Given the description of an element on the screen output the (x, y) to click on. 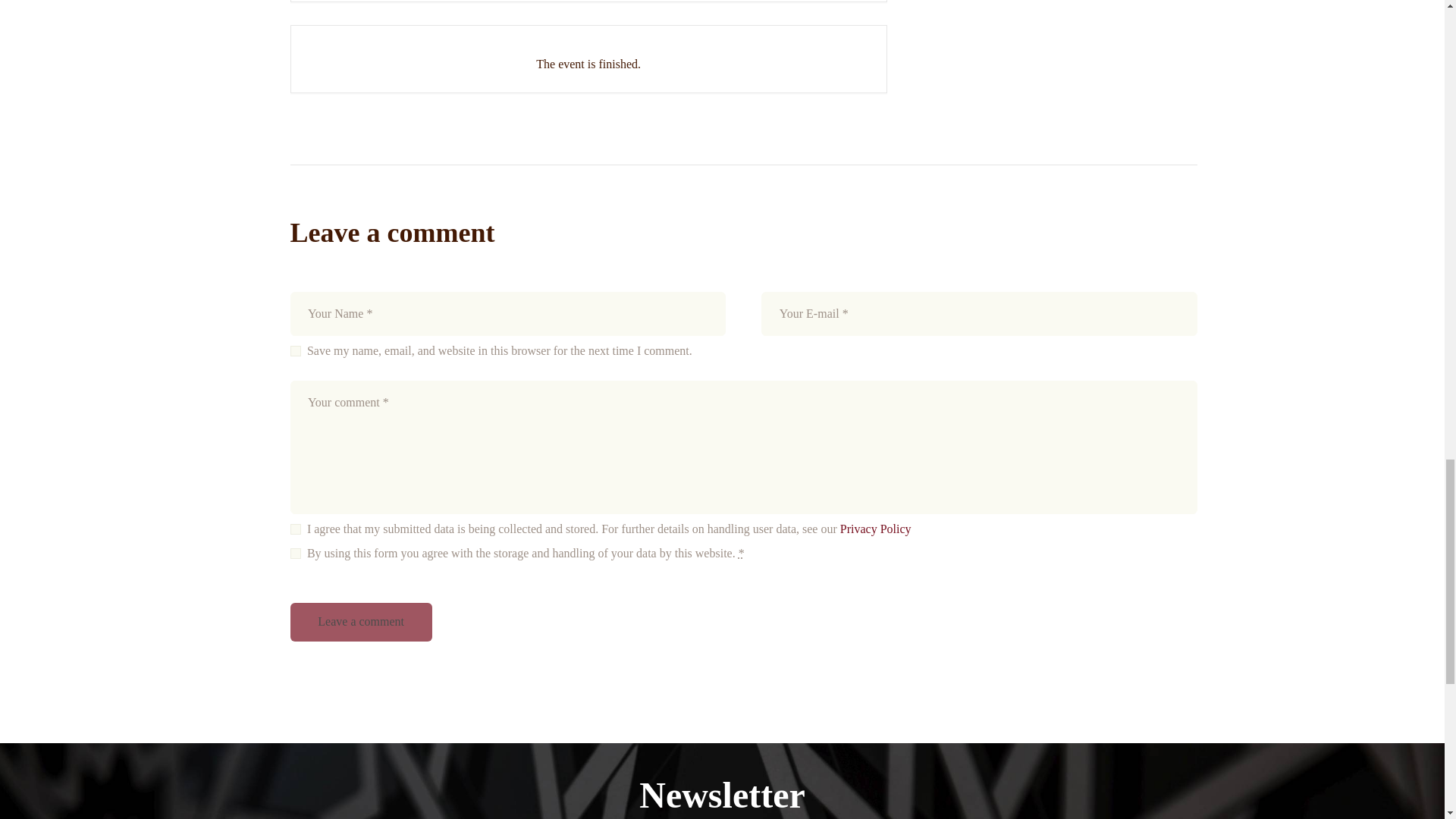
Leave a comment (359, 622)
